Given the description of an element on the screen output the (x, y) to click on. 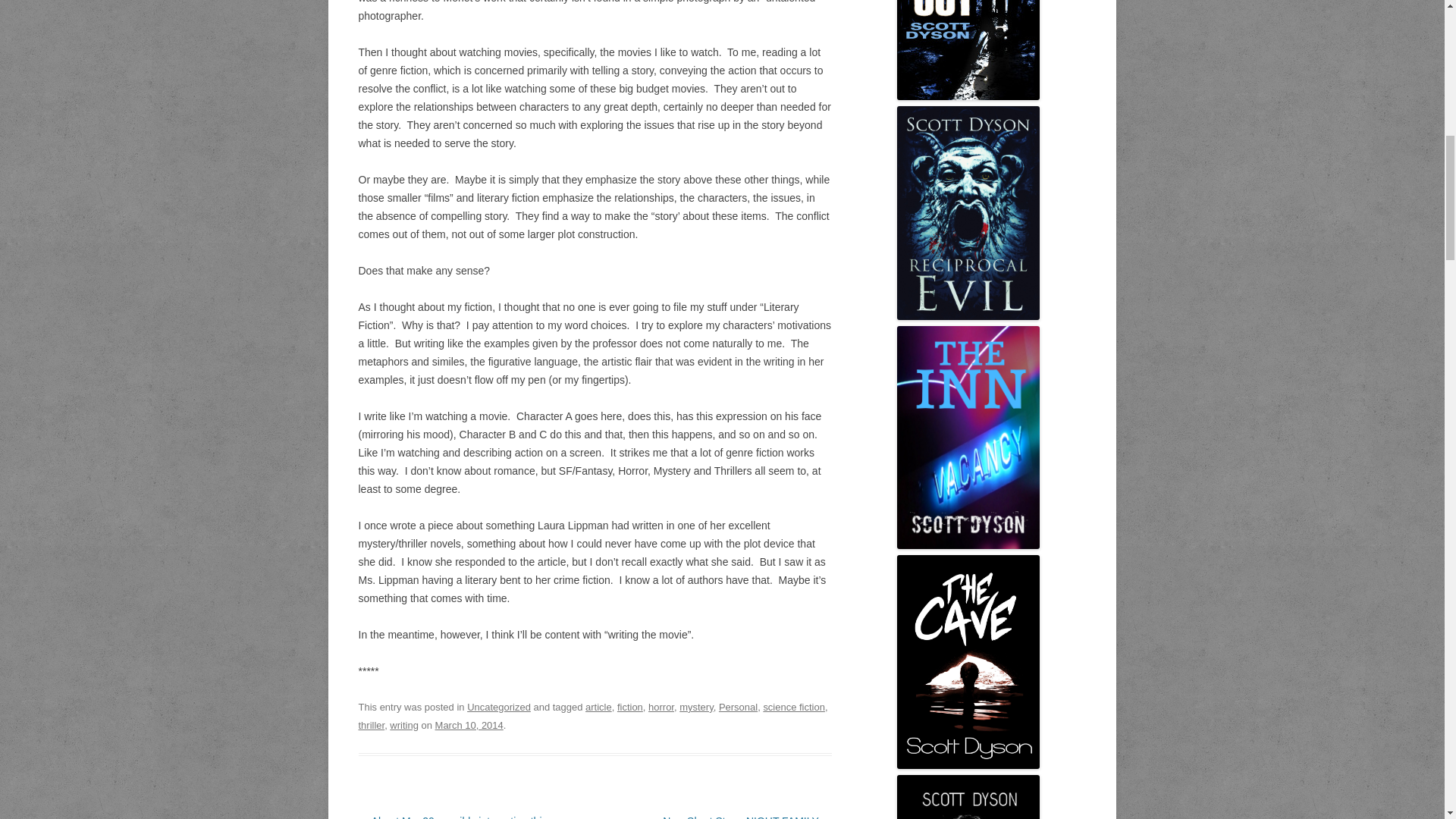
11:29 am (469, 725)
mystery (696, 706)
Uncategorized (499, 706)
horror (660, 706)
fiction (630, 706)
science fiction (793, 706)
thriller (371, 725)
March 10, 2014 (469, 725)
Personal (738, 706)
article (598, 706)
writing (404, 725)
